Given the description of an element on the screen output the (x, y) to click on. 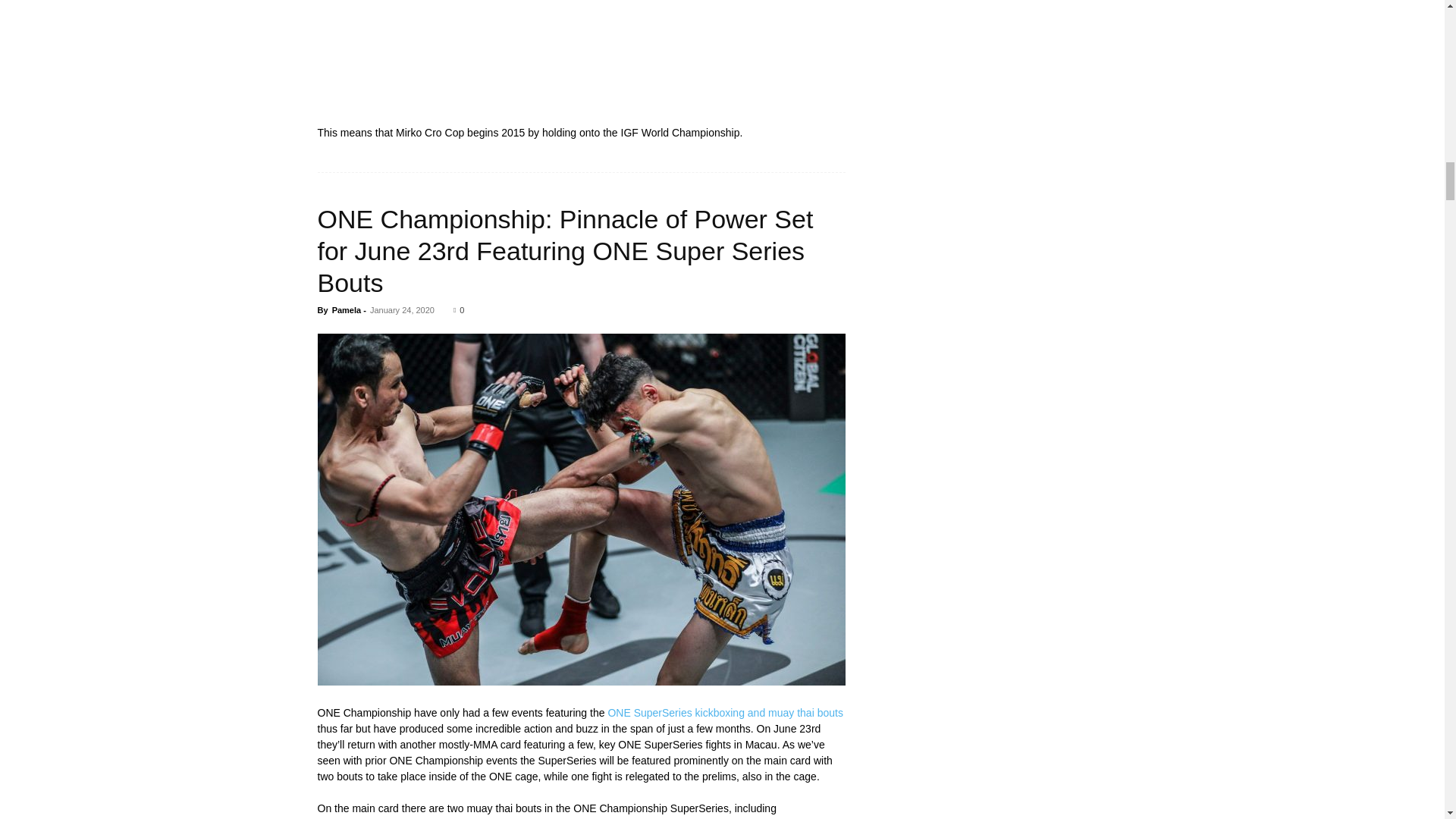
0 (458, 309)
Pamela (346, 309)
Mirko Cro Cop vs Satoshi Ishii 31.12.2014. (580, 60)
